Given the description of an element on the screen output the (x, y) to click on. 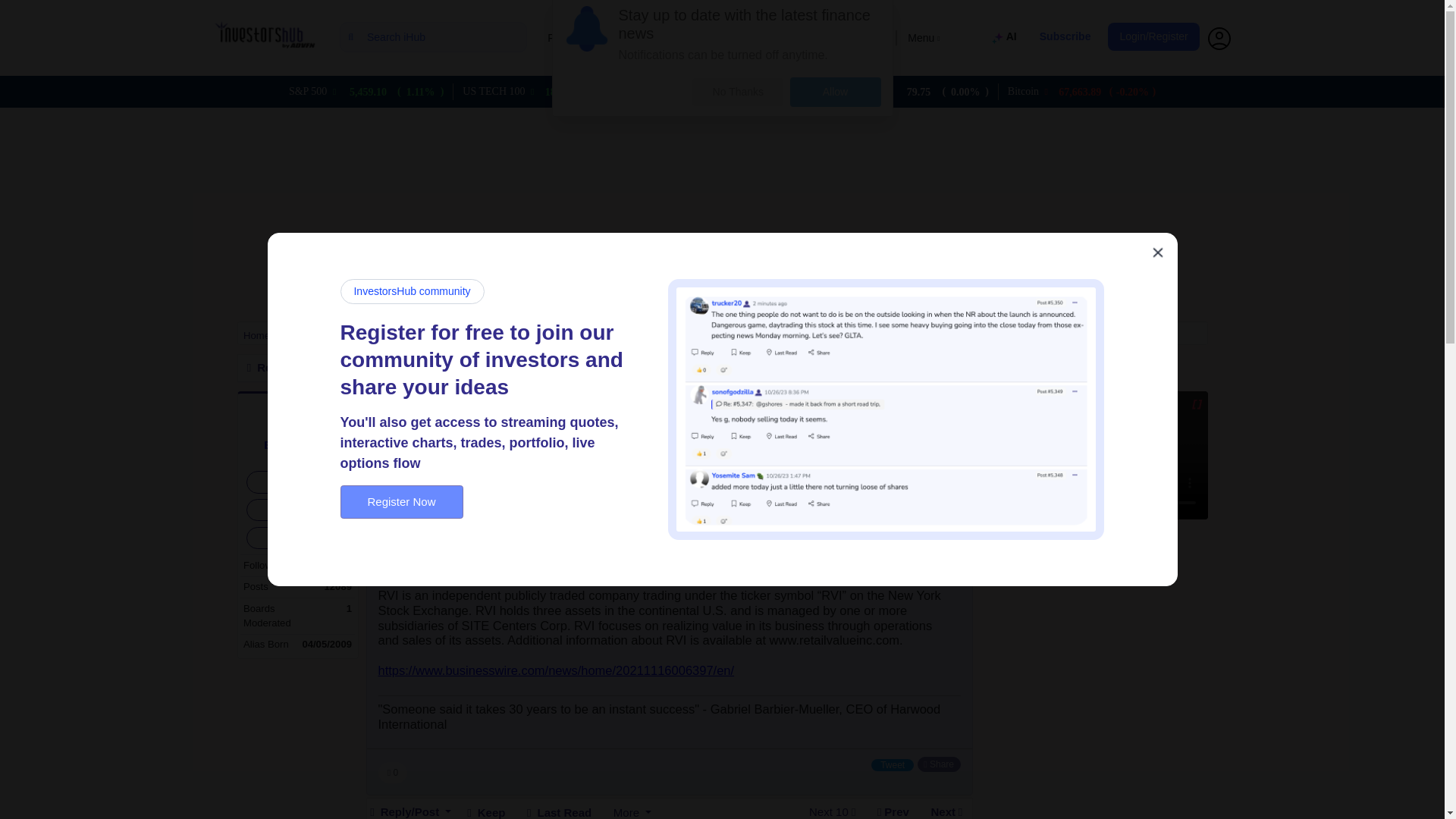
Favorites (569, 37)
Financial Analysis powered by AI (1006, 38)
Level 2 (790, 37)
69 (869, 423)
Hot (625, 37)
Menu (924, 37)
Movers (732, 37)
Monitor (675, 37)
NewsWire (853, 37)
